Given the description of an element on the screen output the (x, y) to click on. 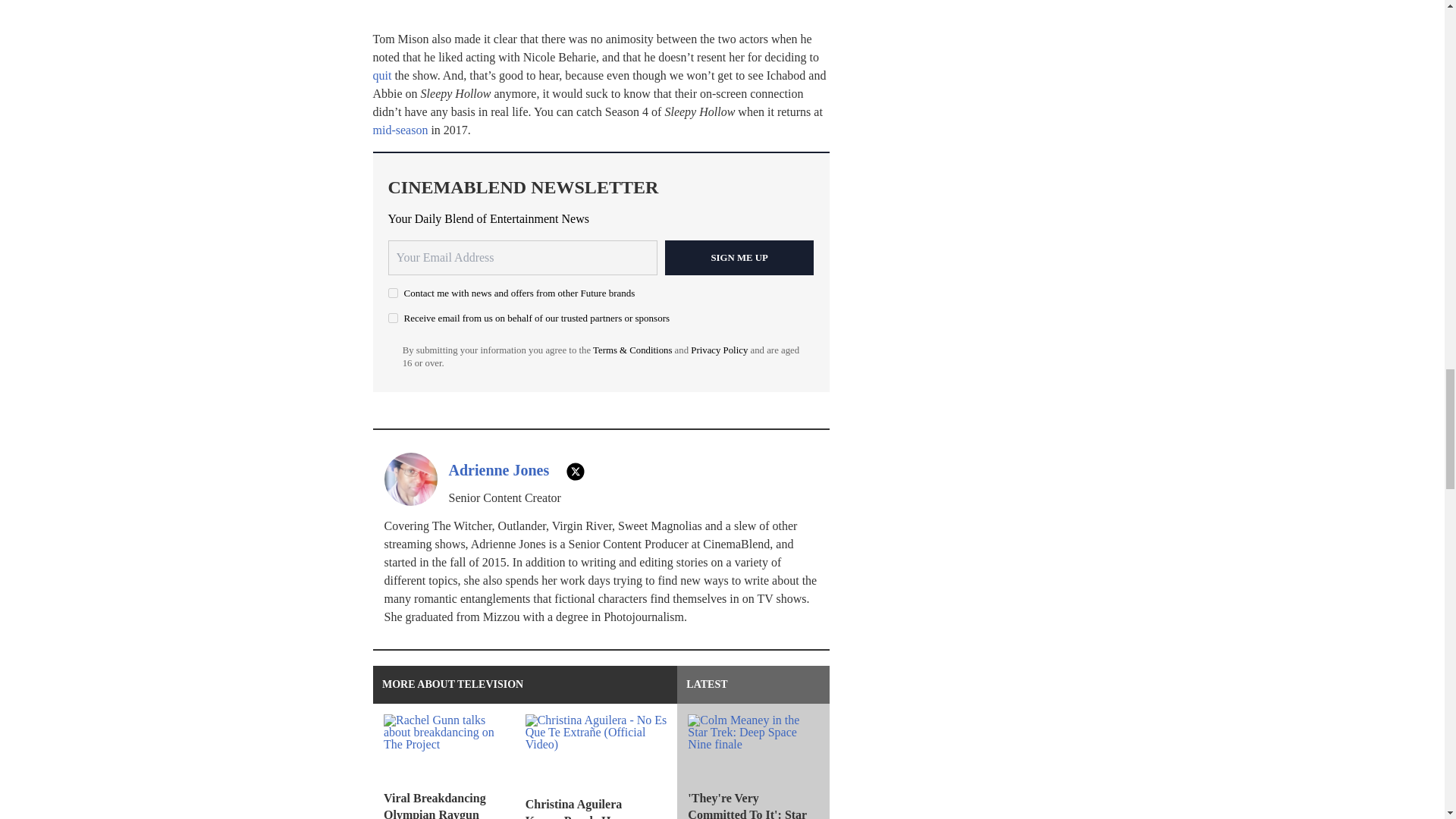
on (392, 293)
Sign me up (739, 257)
on (392, 317)
